Given the description of an element on the screen output the (x, y) to click on. 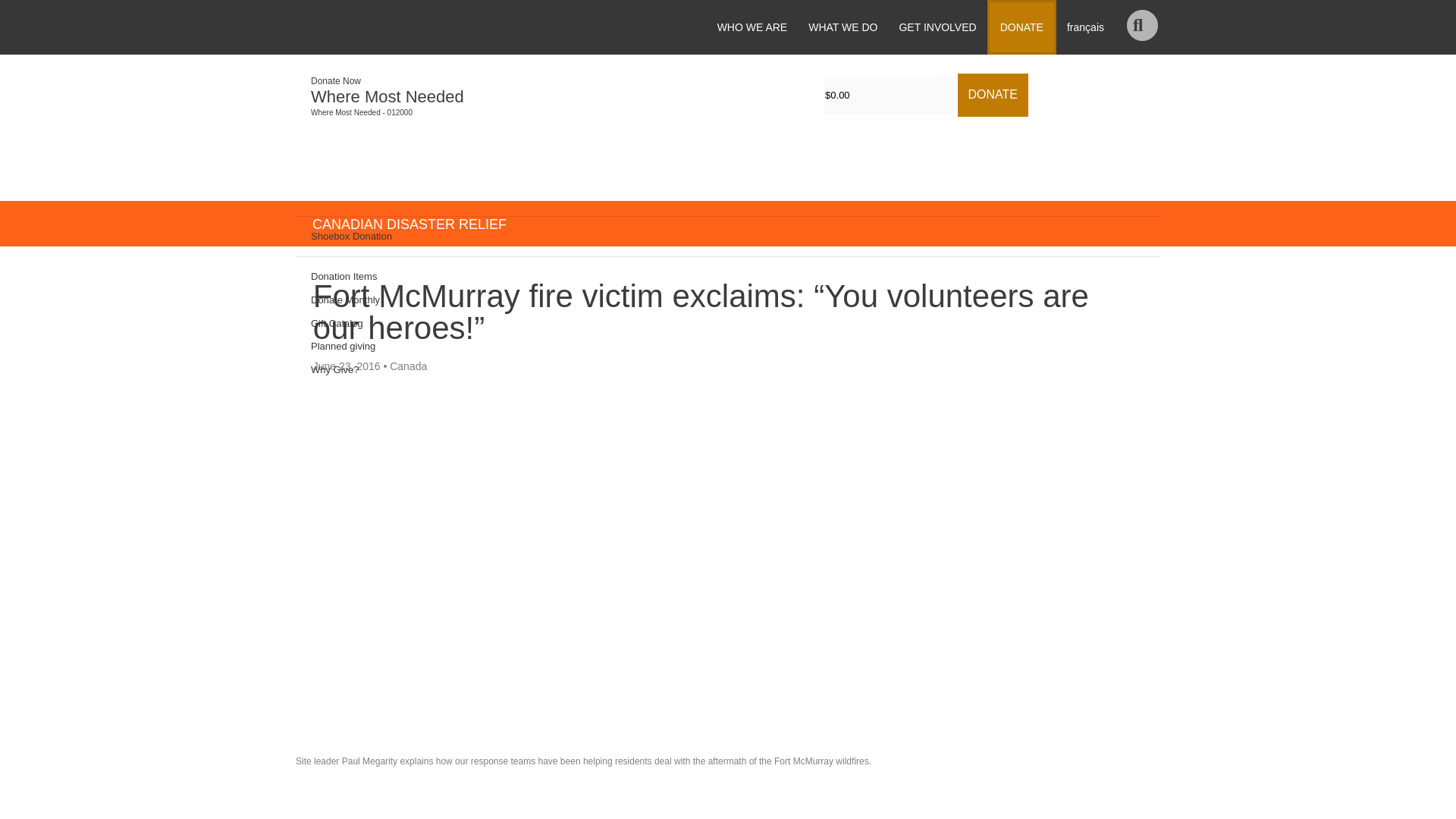
WHAT WE DO (842, 27)
GET INVOLVED (937, 27)
DONATE (1022, 27)
WHO WE ARE (751, 27)
